Given the description of an element on the screen output the (x, y) to click on. 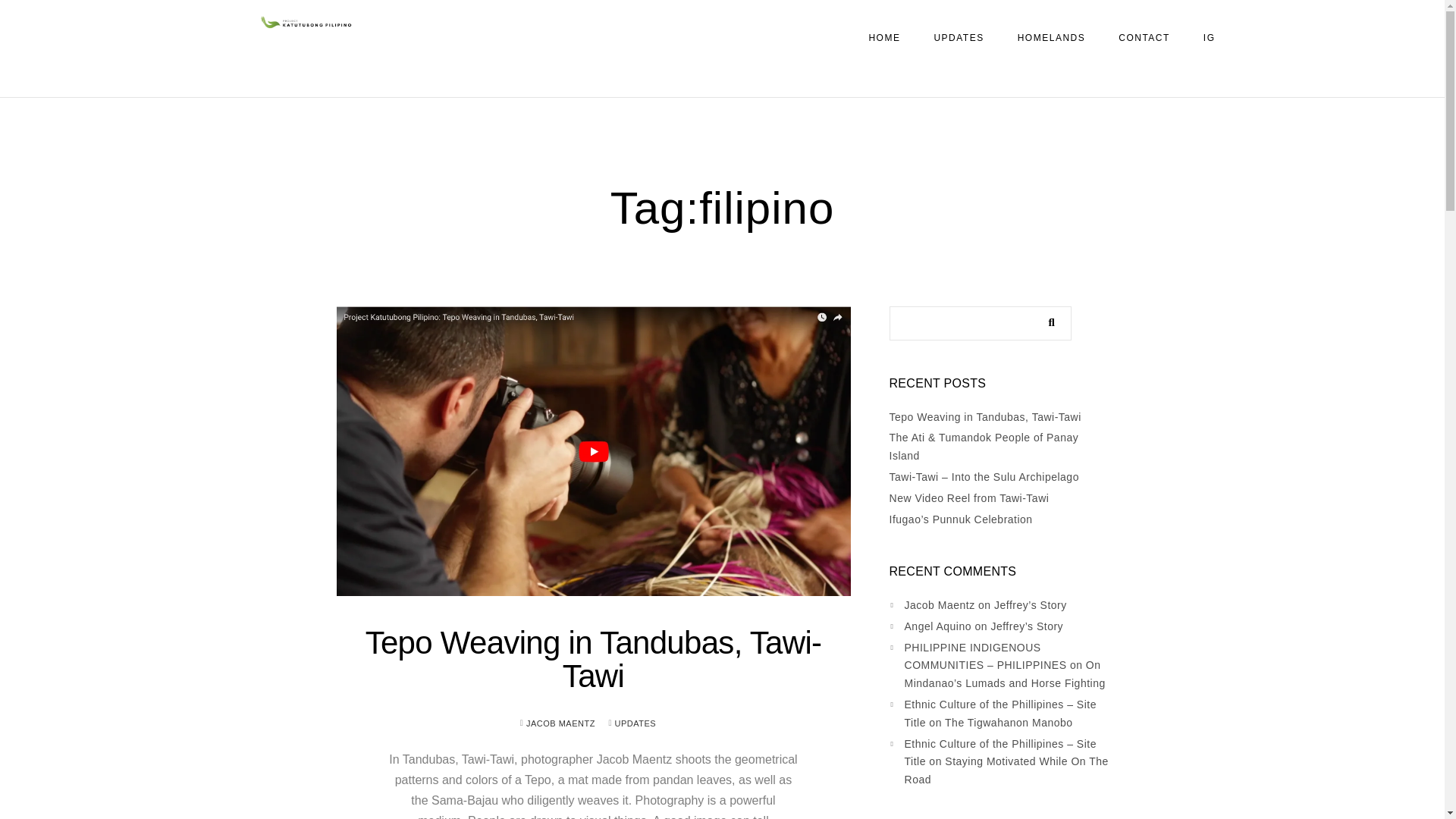
UPDATES (635, 723)
New Video Reel from Tawi-Tawi (969, 498)
Search (1047, 319)
Tepo Weaving in Tandubas, Tawi-Tawi (985, 417)
Jacob Maentz (939, 604)
HOMELANDS (1051, 38)
Tepo Weaving in Tandubas, Tawi-Tawi (593, 658)
